Given the description of an element on the screen output the (x, y) to click on. 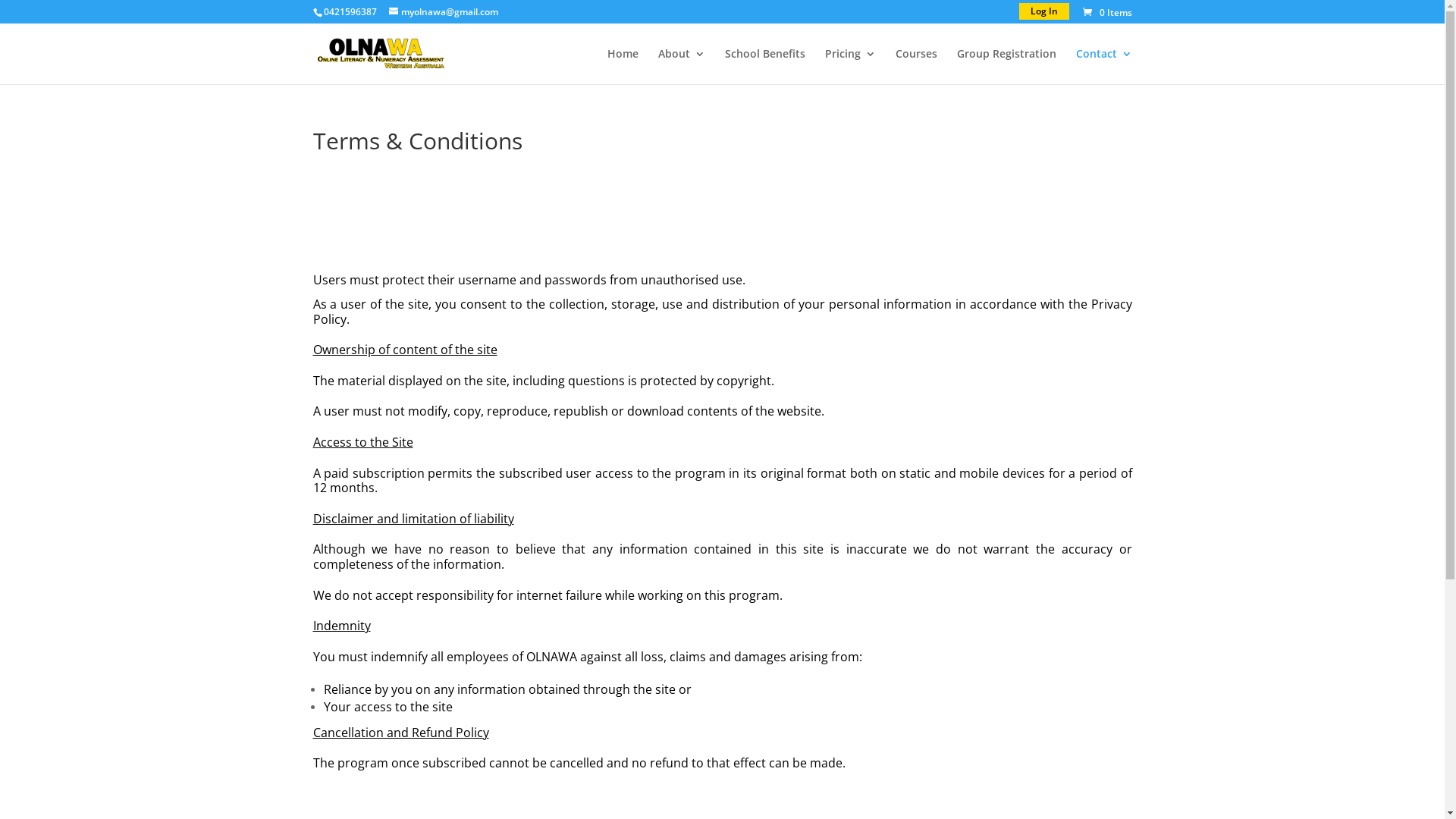
About Element type: text (681, 66)
Home Element type: text (621, 66)
Contact Element type: text (1103, 66)
myolnawa@gmail.com Element type: text (442, 11)
School Benefits Element type: text (764, 66)
Courses Element type: text (915, 66)
Group Registration Element type: text (1006, 66)
Log In Element type: text (1044, 11)
Pricing Element type: text (850, 66)
0 Items Element type: text (1105, 12)
